Given the description of an element on the screen output the (x, y) to click on. 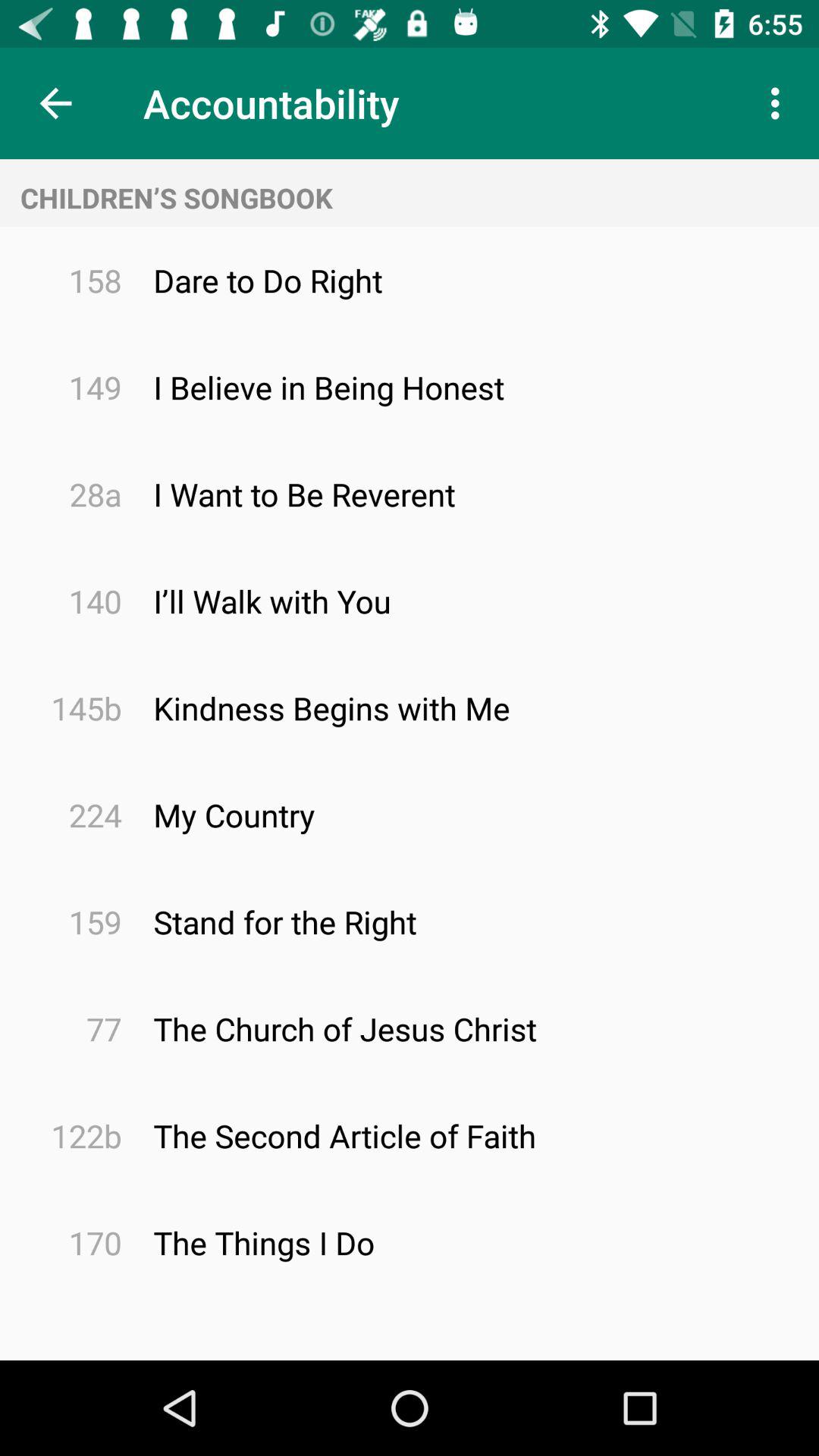
turn off item to the right of the accountability icon (779, 103)
